Given the description of an element on the screen output the (x, y) to click on. 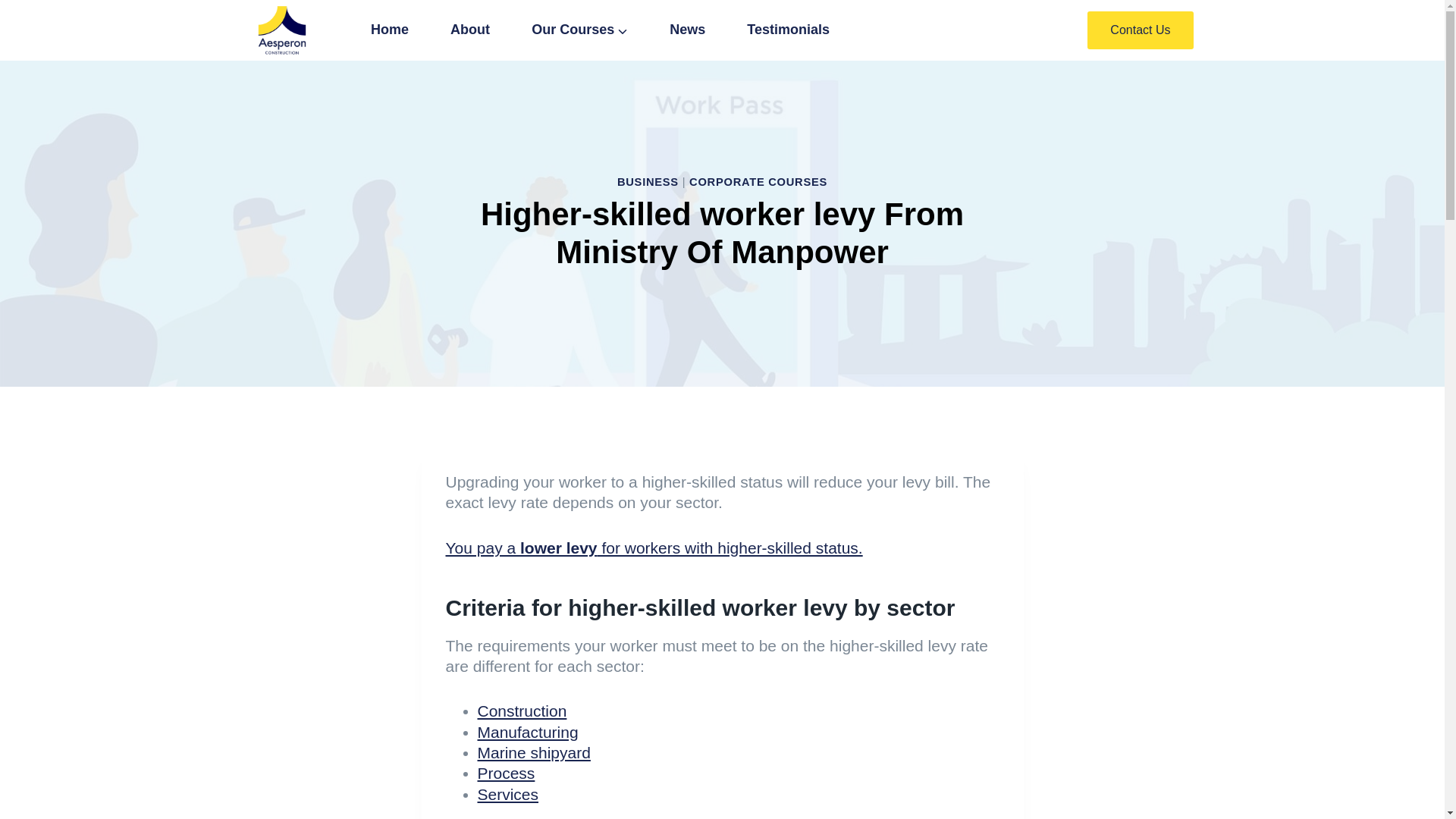
BUSINESS (647, 182)
About (470, 30)
News (687, 30)
CORPORATE COURSES (757, 182)
Marine shipyard (534, 752)
Construction (522, 710)
Our Courses (580, 30)
Testimonials (788, 30)
You pay a lower levy for workers with higher-skilled status. (654, 547)
Home (389, 30)
